Given the description of an element on the screen output the (x, y) to click on. 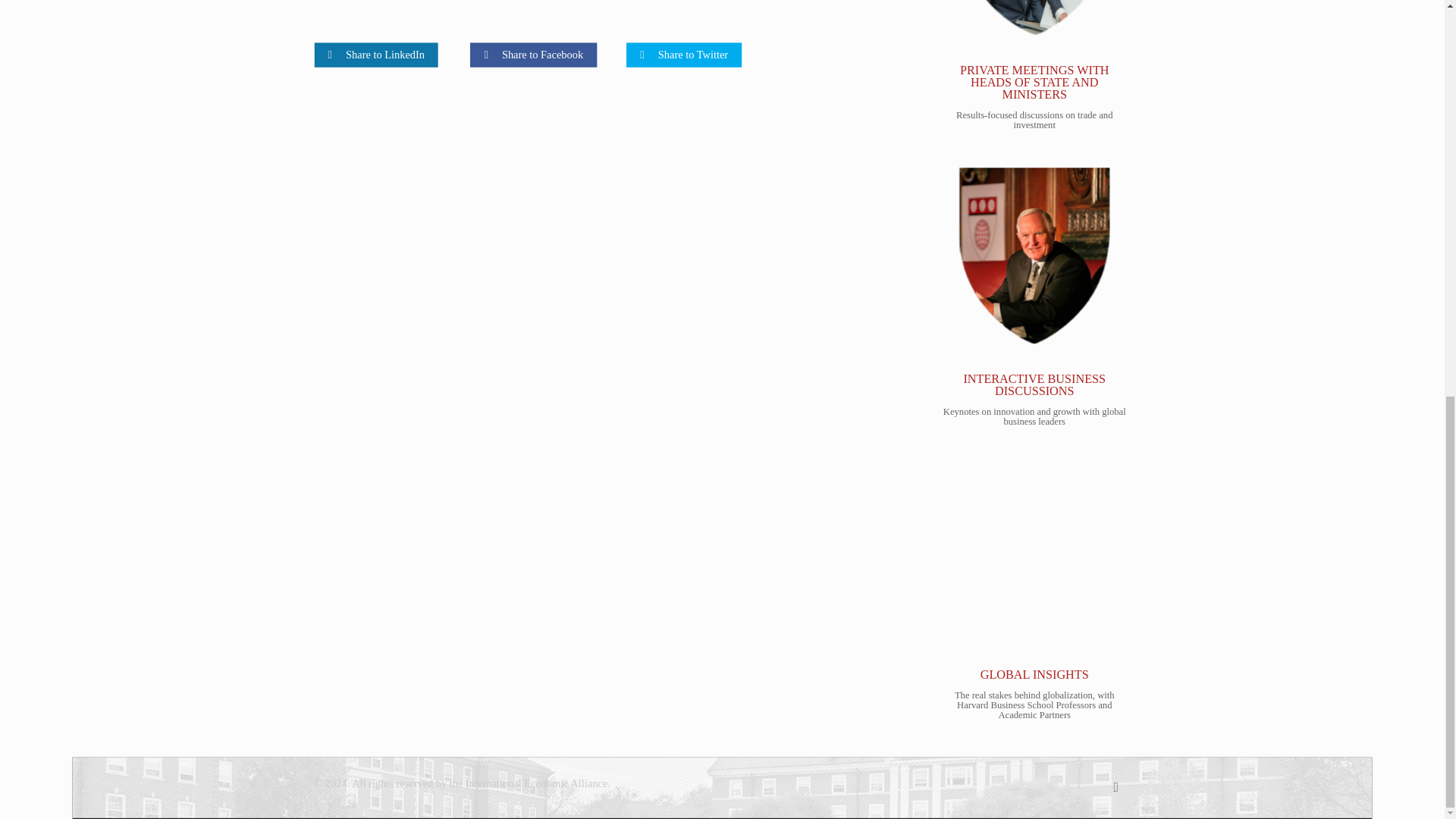
YouTube (1081, 784)
